Given the description of an element on the screen output the (x, y) to click on. 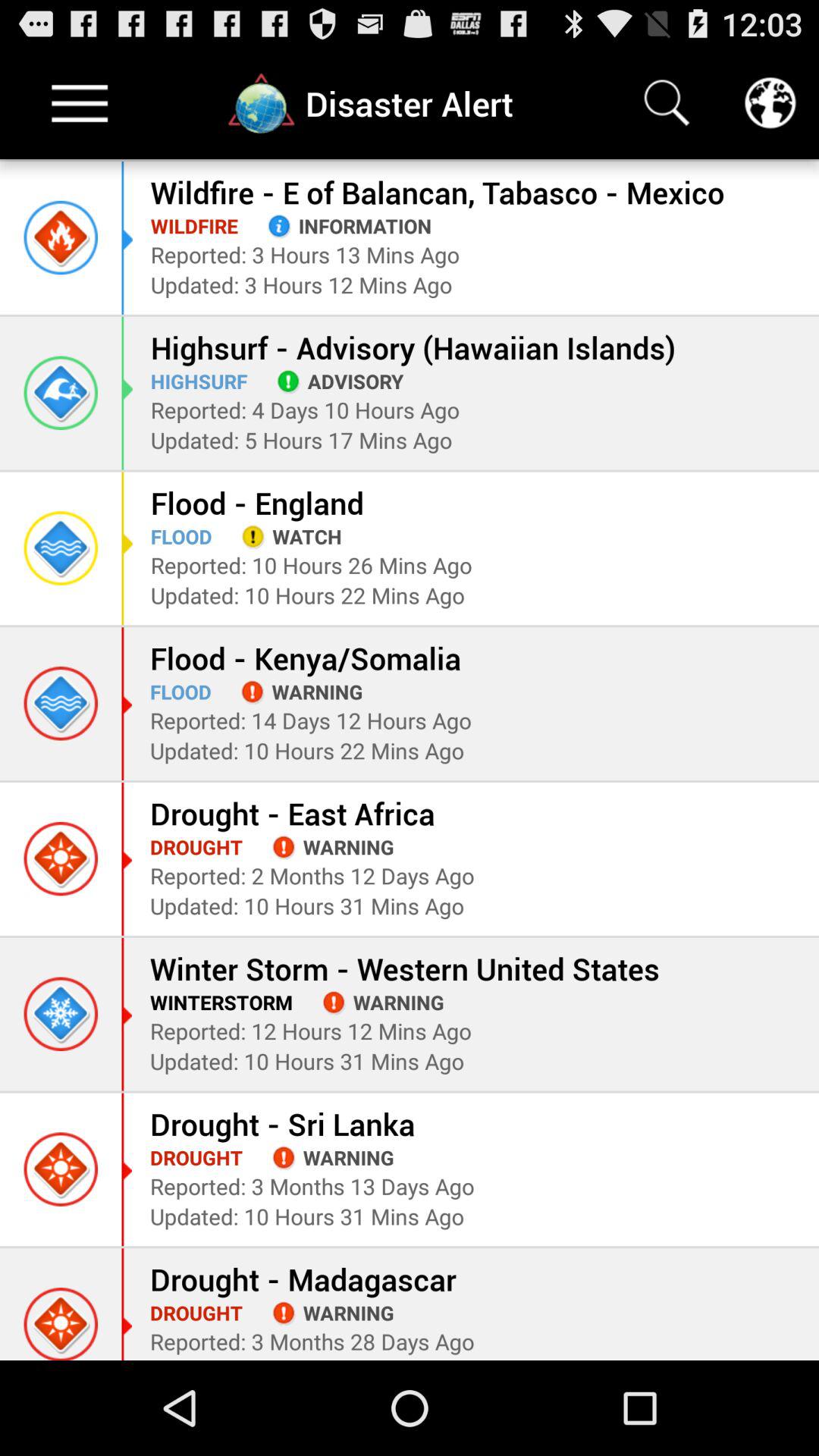
launch the item next to the disaster alert item (666, 102)
